Given the description of an element on the screen output the (x, y) to click on. 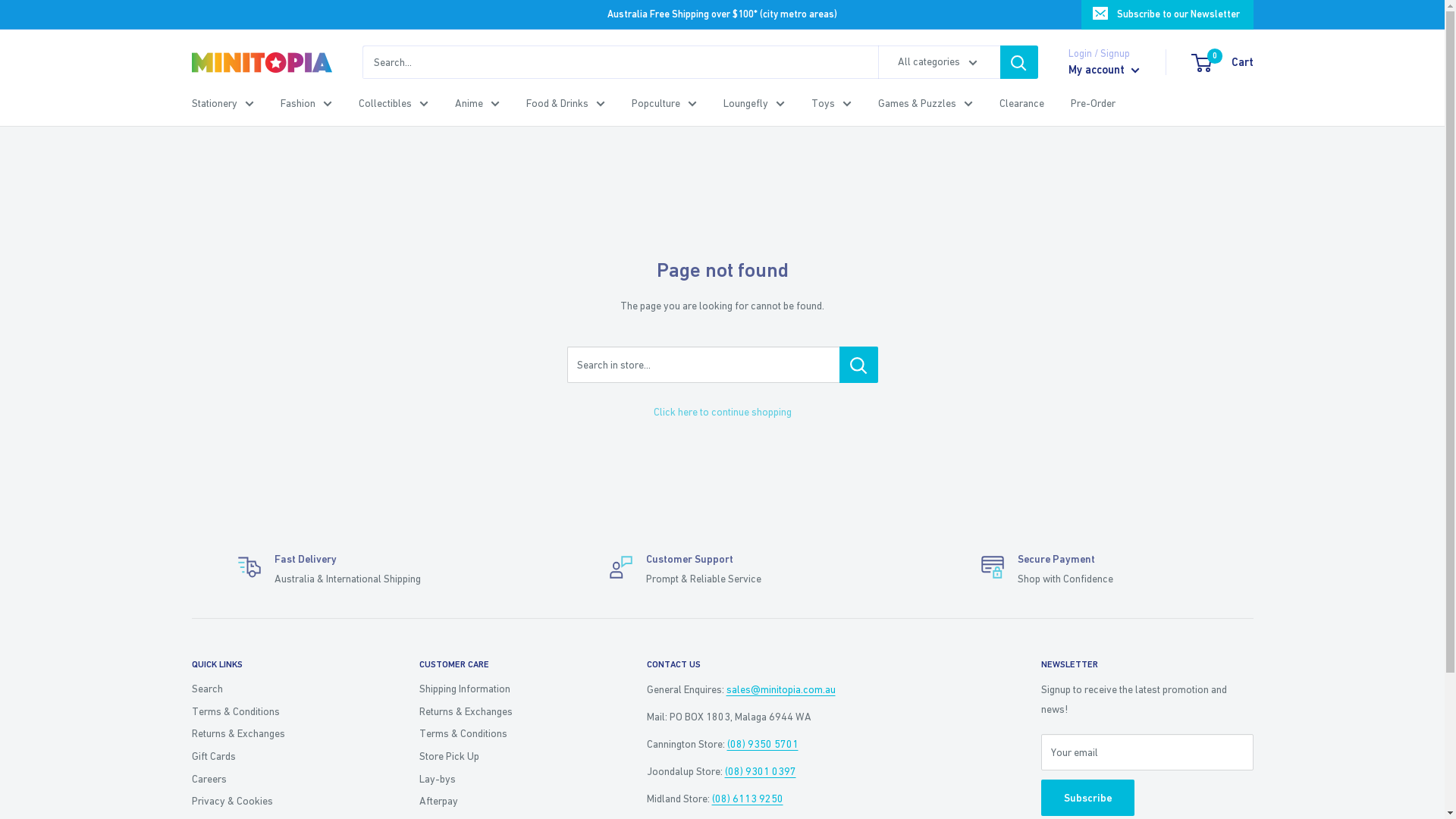
Search Element type: text (278, 688)
Terms & Conditions Element type: text (278, 711)
Store Pick Up Element type: text (505, 756)
Shipping Information Element type: text (505, 688)
Lay-bys Element type: text (505, 778)
Minitopia Element type: text (261, 62)
Afterpay Element type: text (505, 801)
Loungefly Element type: text (753, 102)
Returns & Exchanges Element type: text (505, 711)
Fashion Element type: text (306, 102)
Collectibles Element type: text (392, 102)
Click here to continue shopping Element type: text (722, 411)
Stationery Element type: text (222, 102)
Returns & Exchanges Element type: text (278, 733)
(08) 9350 5701 Element type: text (761, 743)
Food & Drinks Element type: text (565, 102)
Subscribe Element type: text (1086, 797)
Toys Element type: text (831, 102)
Pre-Order Element type: text (1092, 102)
Gift Cards Element type: text (278, 756)
(08) 9301 0397 Element type: text (760, 771)
My account Element type: text (1103, 69)
CUSTOMER CARE Element type: text (505, 663)
Careers Element type: text (278, 778)
Subscribe to our Newsletter Element type: text (1167, 14)
Privacy & Cookies Element type: text (278, 801)
0
Cart Element type: text (1222, 61)
QUICK LINKS Element type: text (278, 663)
Australia Free Shipping over $100* (city metro areas) Element type: text (636, 14)
Games & Puzzles Element type: text (925, 102)
(08) 6113 9250 Element type: text (746, 798)
CONTACT US Element type: text (816, 663)
Popculture Element type: text (663, 102)
sales@minitopia.com.au Element type: text (780, 689)
Anime Element type: text (477, 102)
Clearance Element type: text (1021, 102)
Terms & Conditions Element type: text (505, 733)
